Given the description of an element on the screen output the (x, y) to click on. 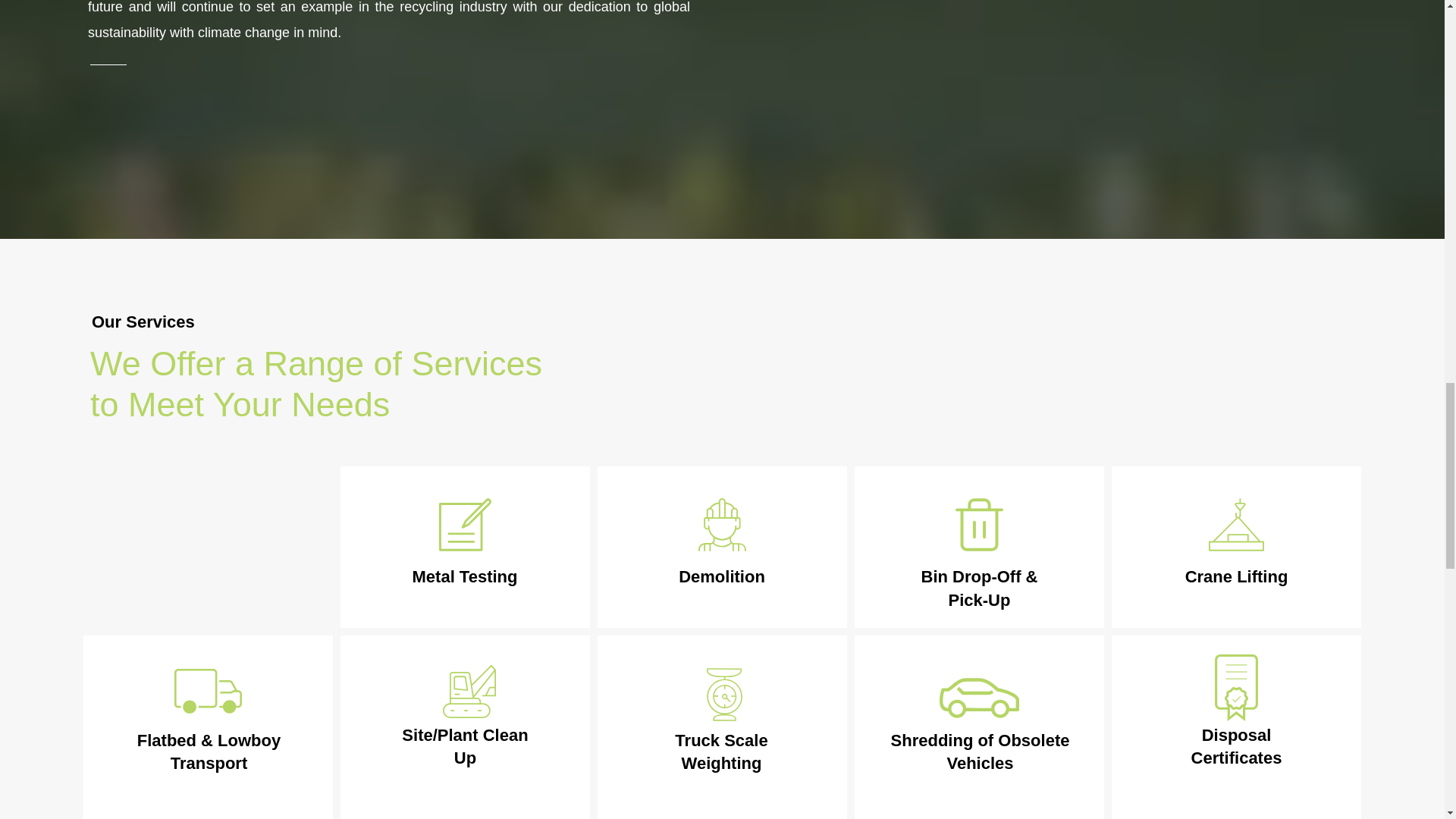
Demolition (721, 576)
Crane Lifting (1236, 576)
Shredding of Obsolete Vehicles (980, 752)
Truck Scale Weighting (721, 752)
Metal Testing (465, 576)
Disposal Certificates (1236, 746)
